Given the description of an element on the screen output the (x, y) to click on. 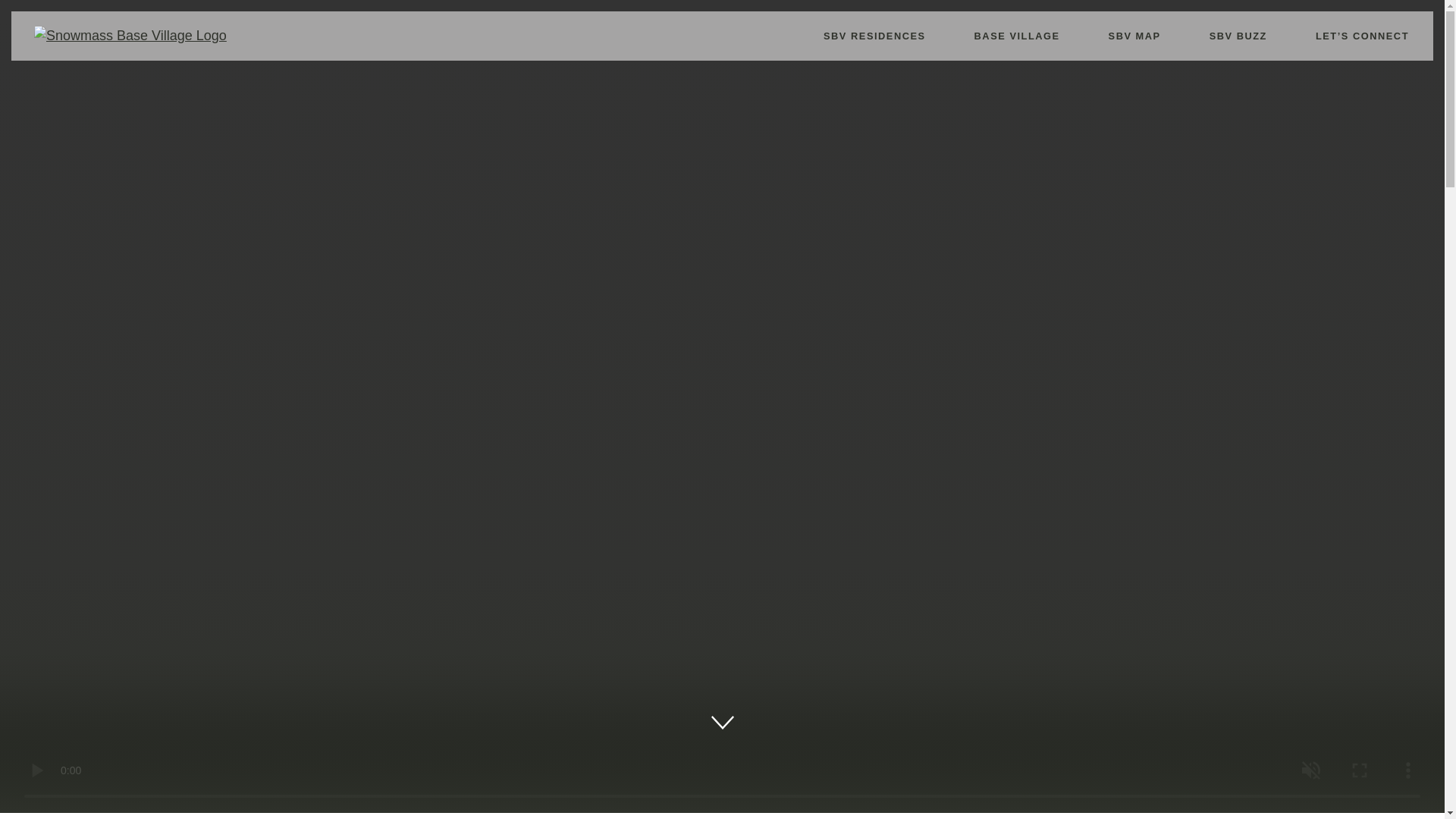
SBV RESIDENCES (874, 35)
BASE VILLAGE (1017, 35)
SBV BUZZ (1238, 35)
SBV MAP (1134, 35)
